Given the description of an element on the screen output the (x, y) to click on. 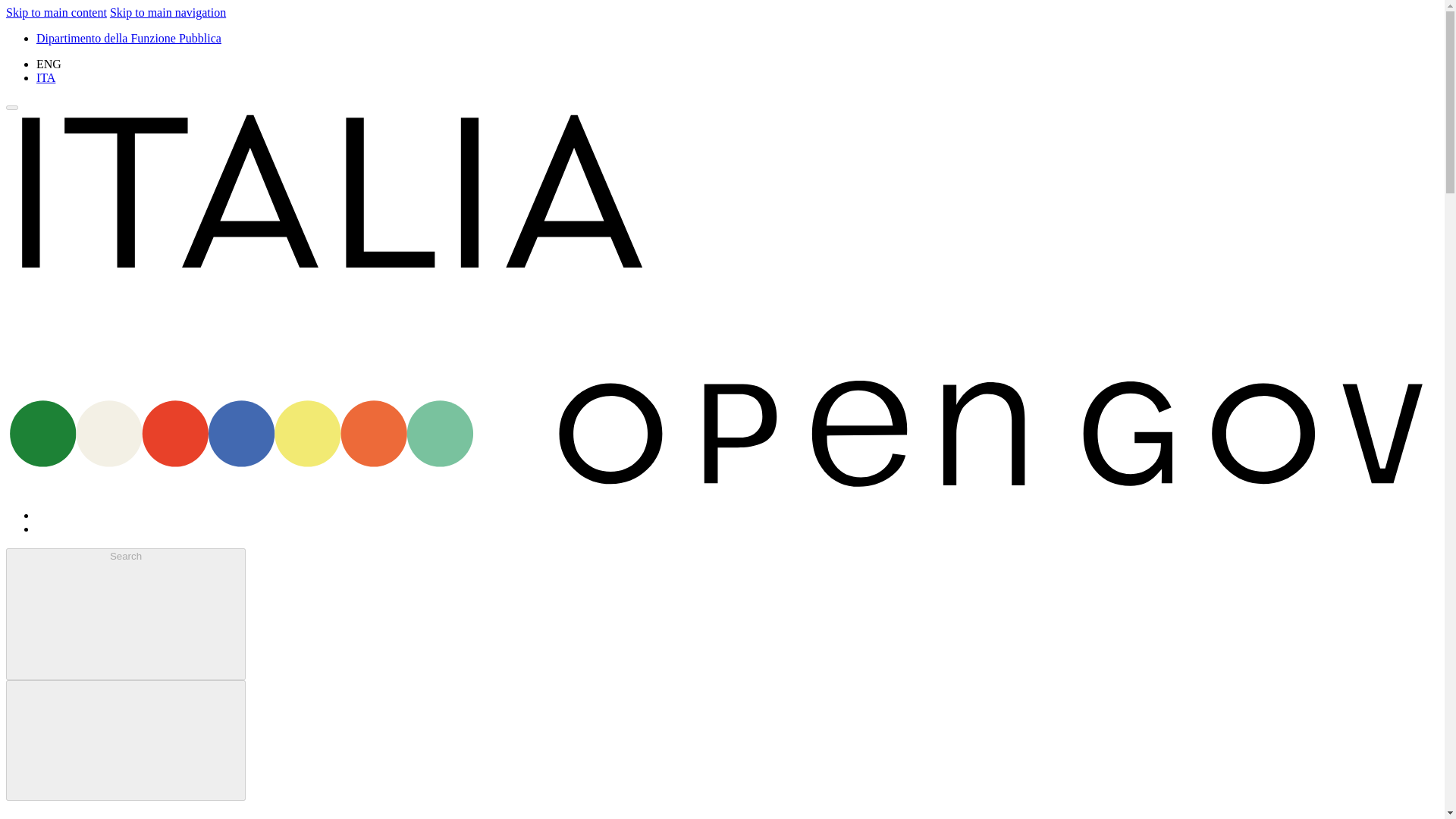
Skip to main navigation (167, 11)
Dipartimento della Funzione Pubblica (128, 38)
Skip to main content (55, 11)
Search (125, 613)
ITA (45, 77)
